Given the description of an element on the screen output the (x, y) to click on. 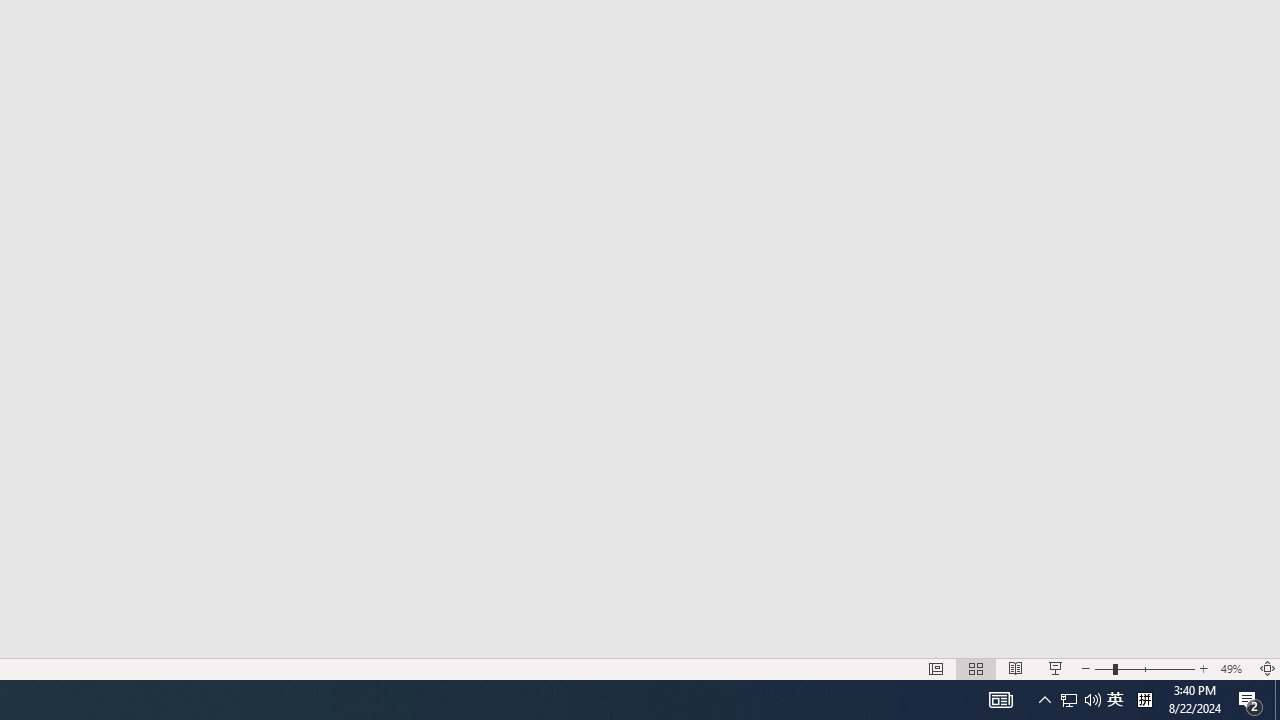
Zoom 49% (1234, 668)
